Given the description of an element on the screen output the (x, y) to click on. 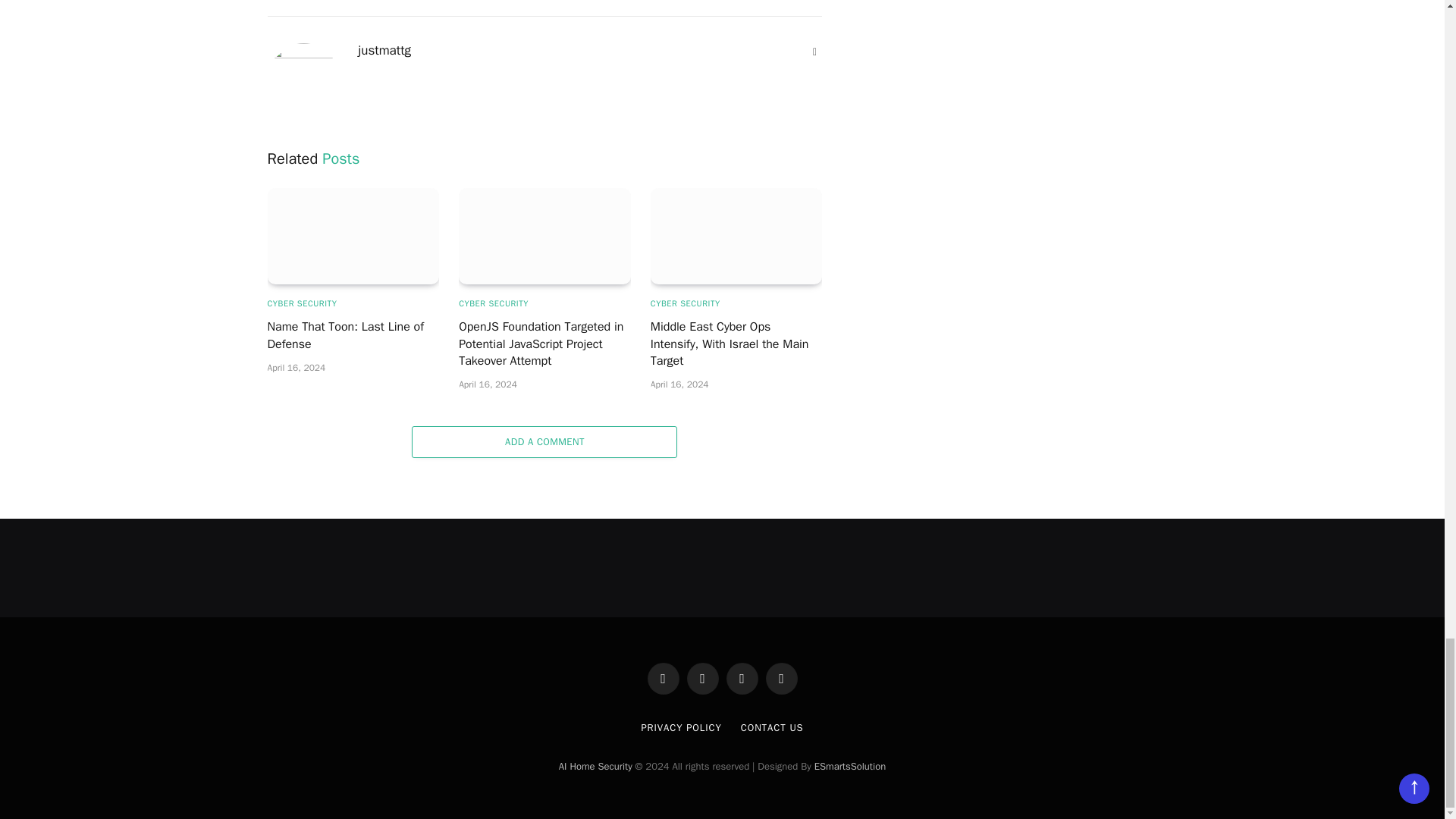
justmattg (384, 50)
CYBER SECURITY (301, 303)
Name That Toon: Last Line of Defense (352, 236)
Posts by justmattg (384, 50)
Website (814, 52)
Website (814, 52)
